Given the description of an element on the screen output the (x, y) to click on. 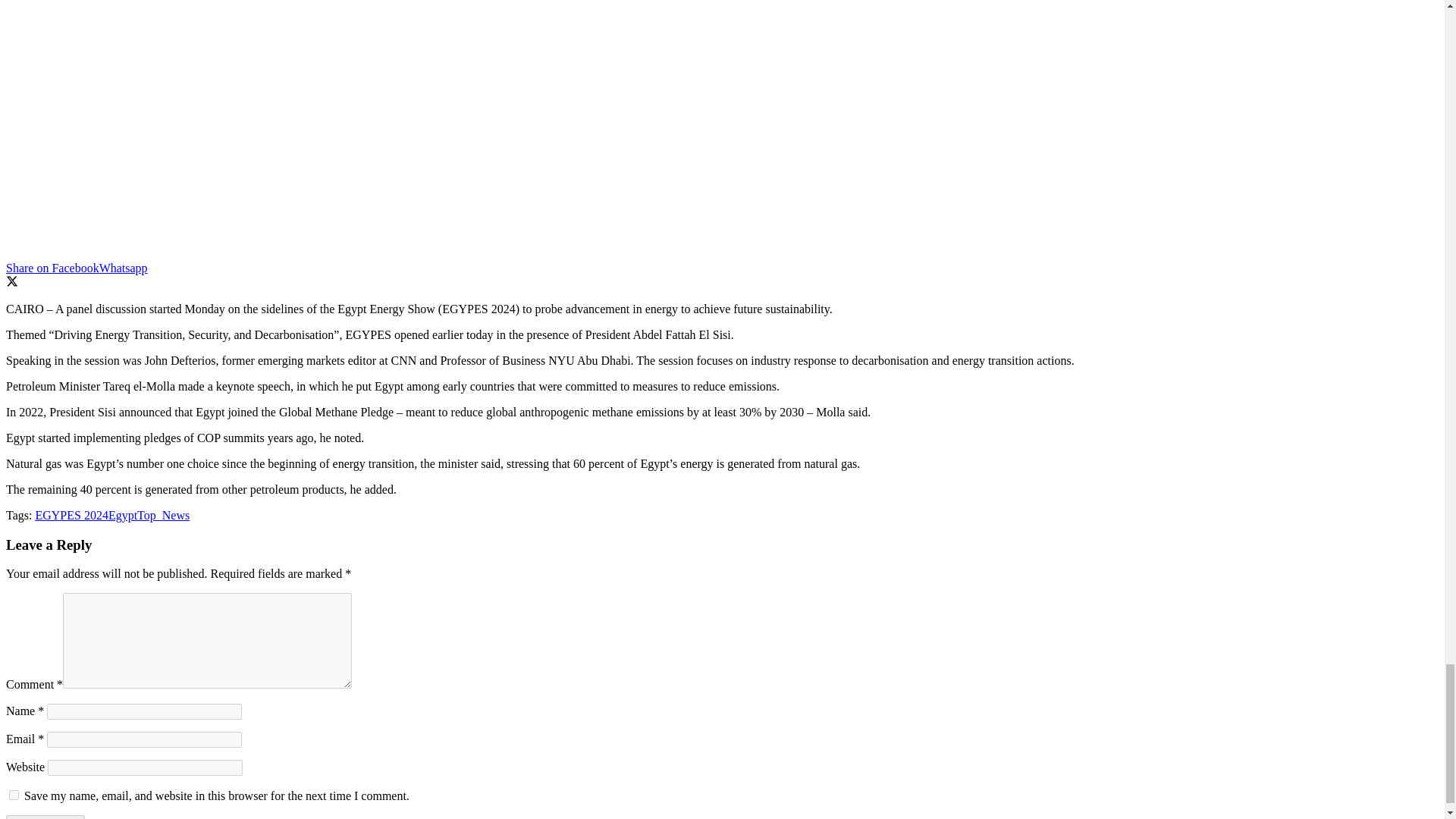
yes (13, 795)
